Given the description of an element on the screen output the (x, y) to click on. 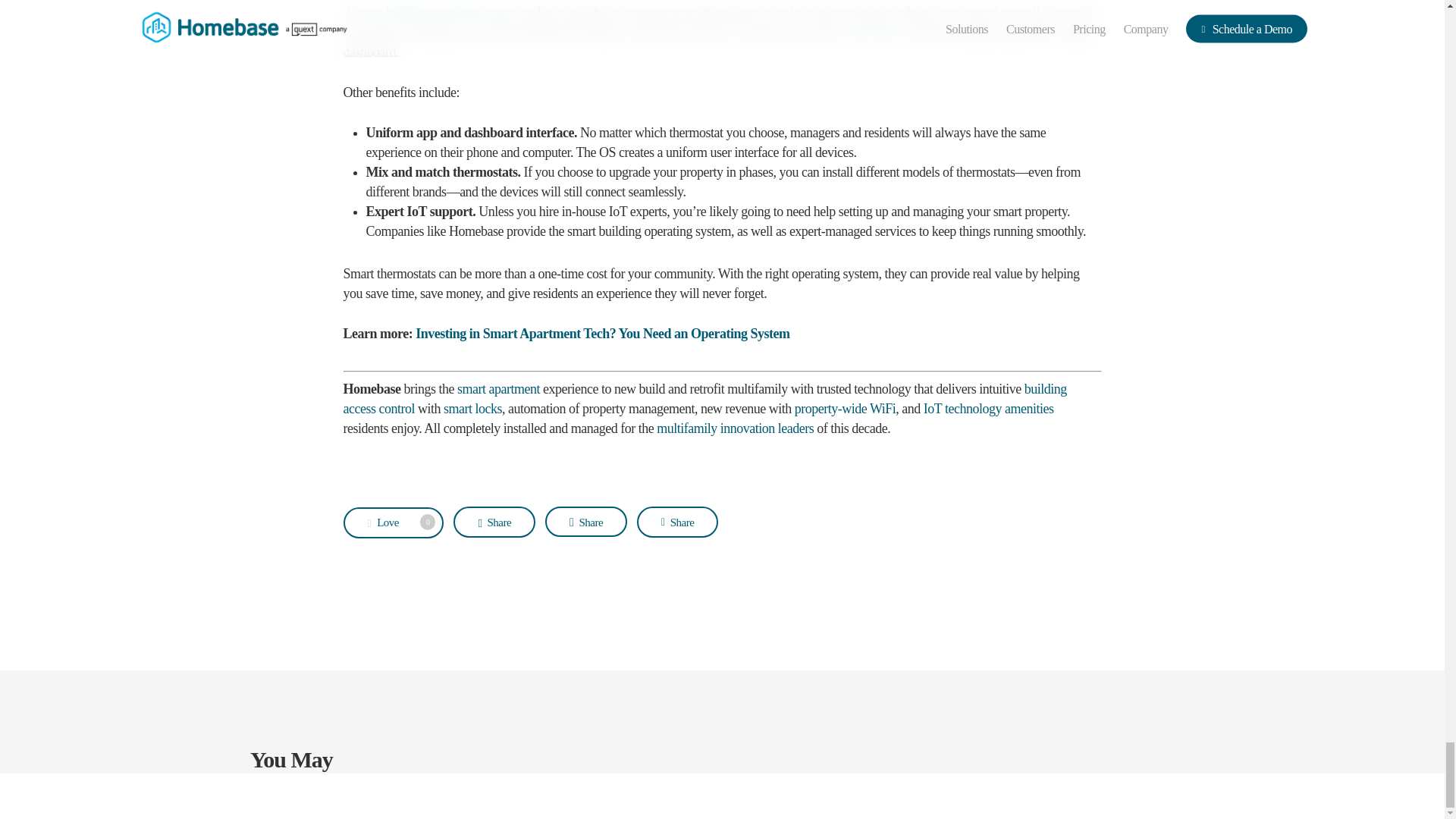
Share this (677, 521)
Share this (585, 521)
Love this (393, 522)
Share this (493, 521)
